Given the description of an element on the screen output the (x, y) to click on. 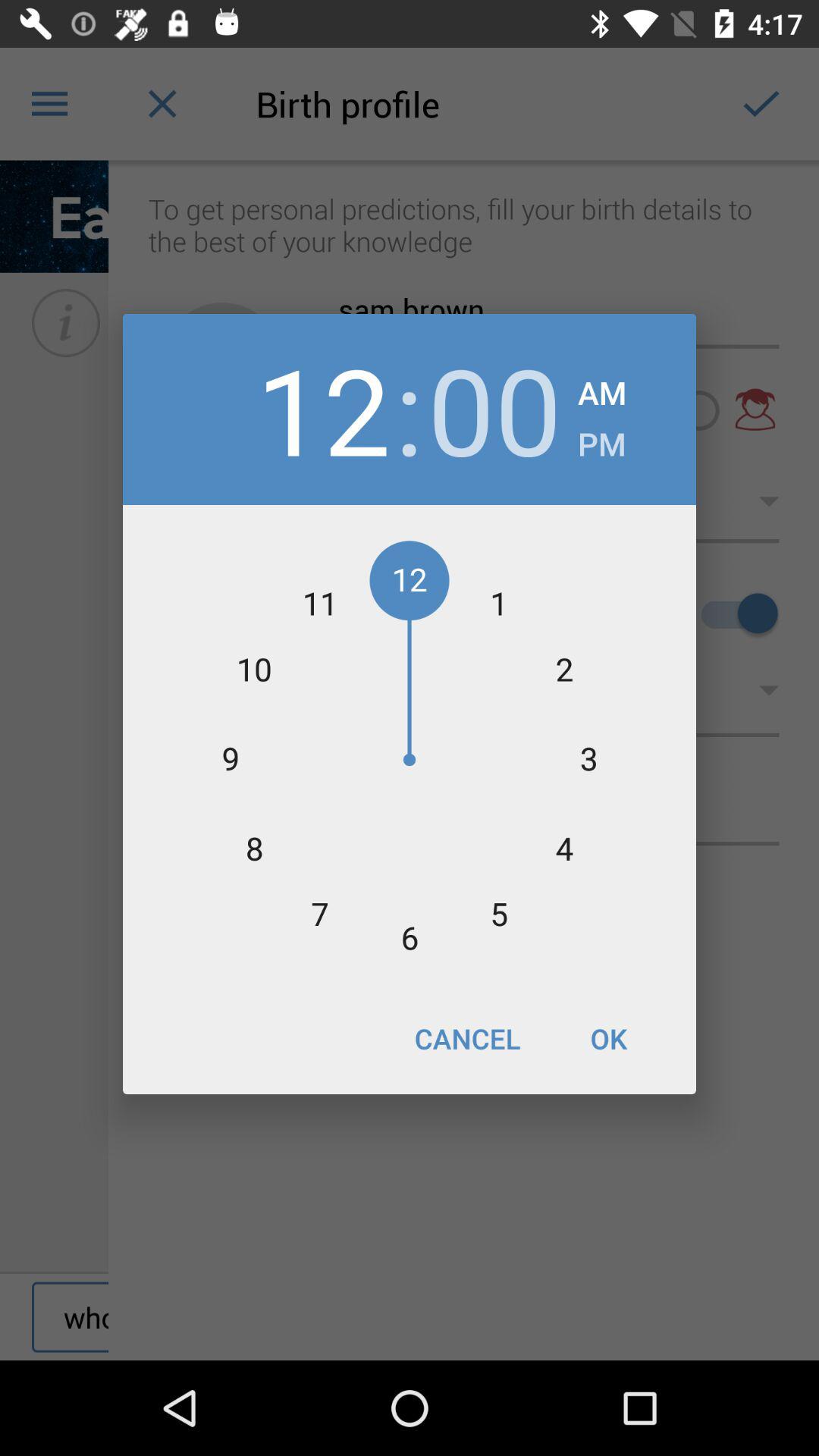
tap the am icon (601, 388)
